Given the description of an element on the screen output the (x, y) to click on. 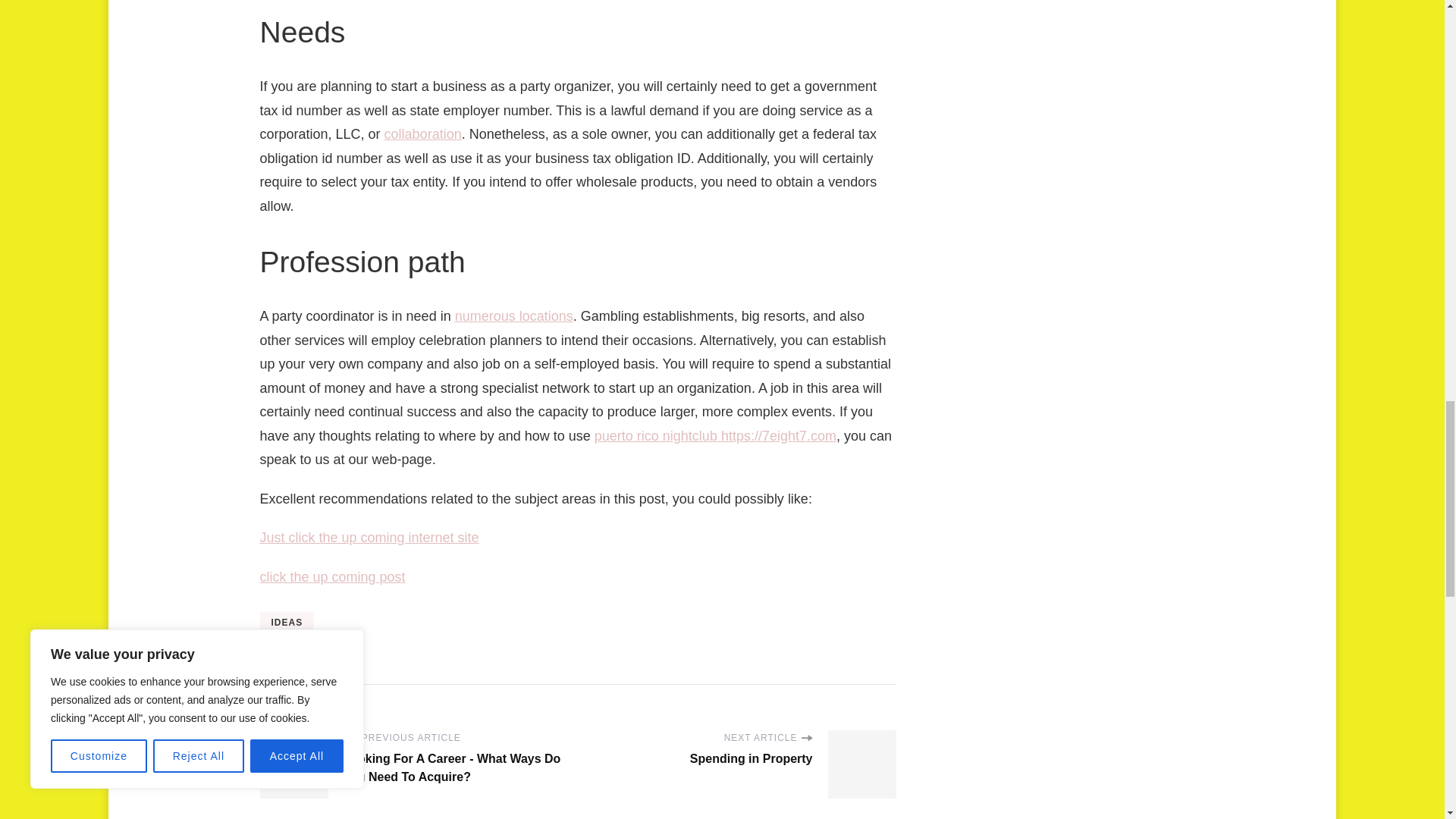
numerous locations (513, 315)
collaboration (422, 133)
Just click the up coming internet site (369, 537)
IDEAS (286, 622)
click the up coming post (331, 576)
